Given the description of an element on the screen output the (x, y) to click on. 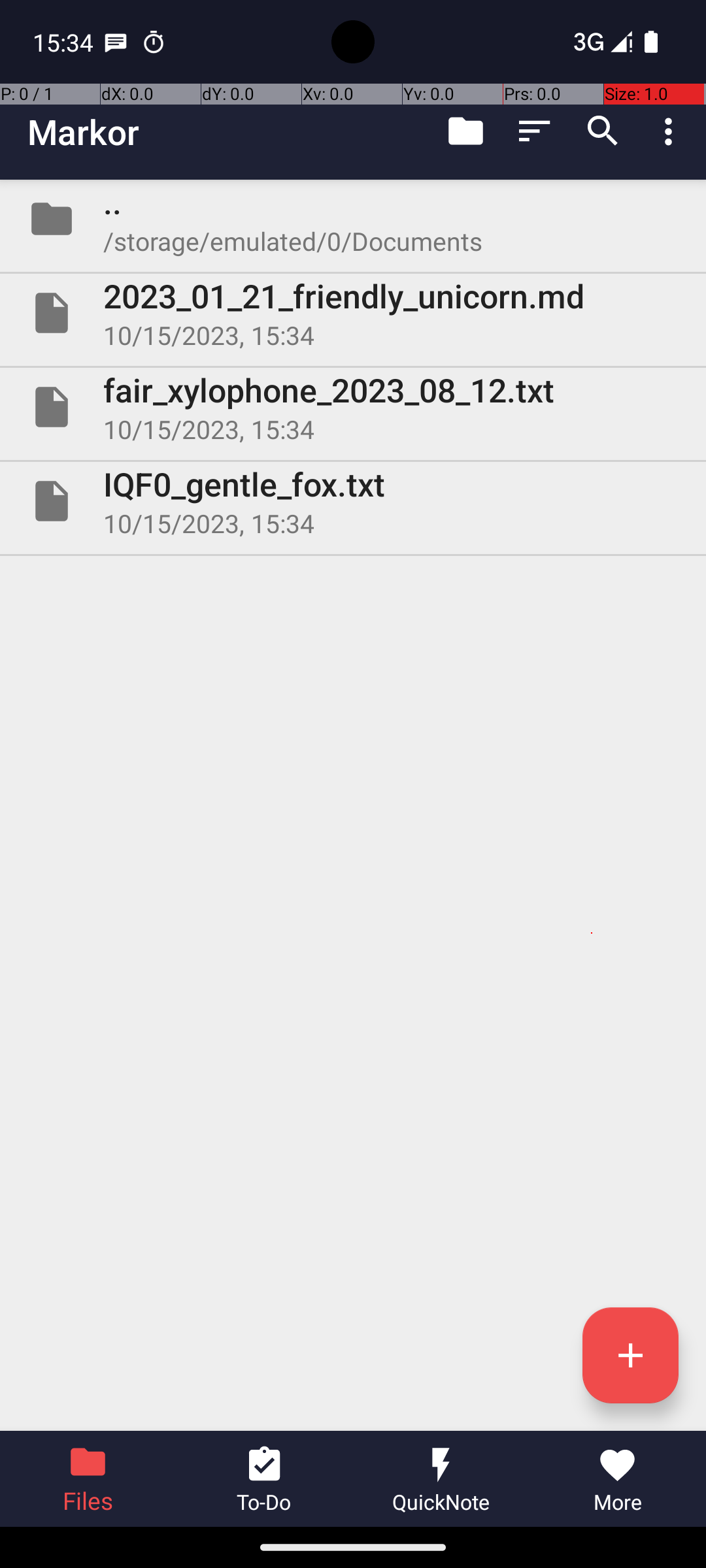
File 2023_01_21_friendly_unicorn.md  Element type: android.widget.LinearLayout (353, 312)
File fair_xylophone_2023_08_12.txt  Element type: android.widget.LinearLayout (353, 406)
File IQF0_gentle_fox.txt  Element type: android.widget.LinearLayout (353, 500)
